Given the description of an element on the screen output the (x, y) to click on. 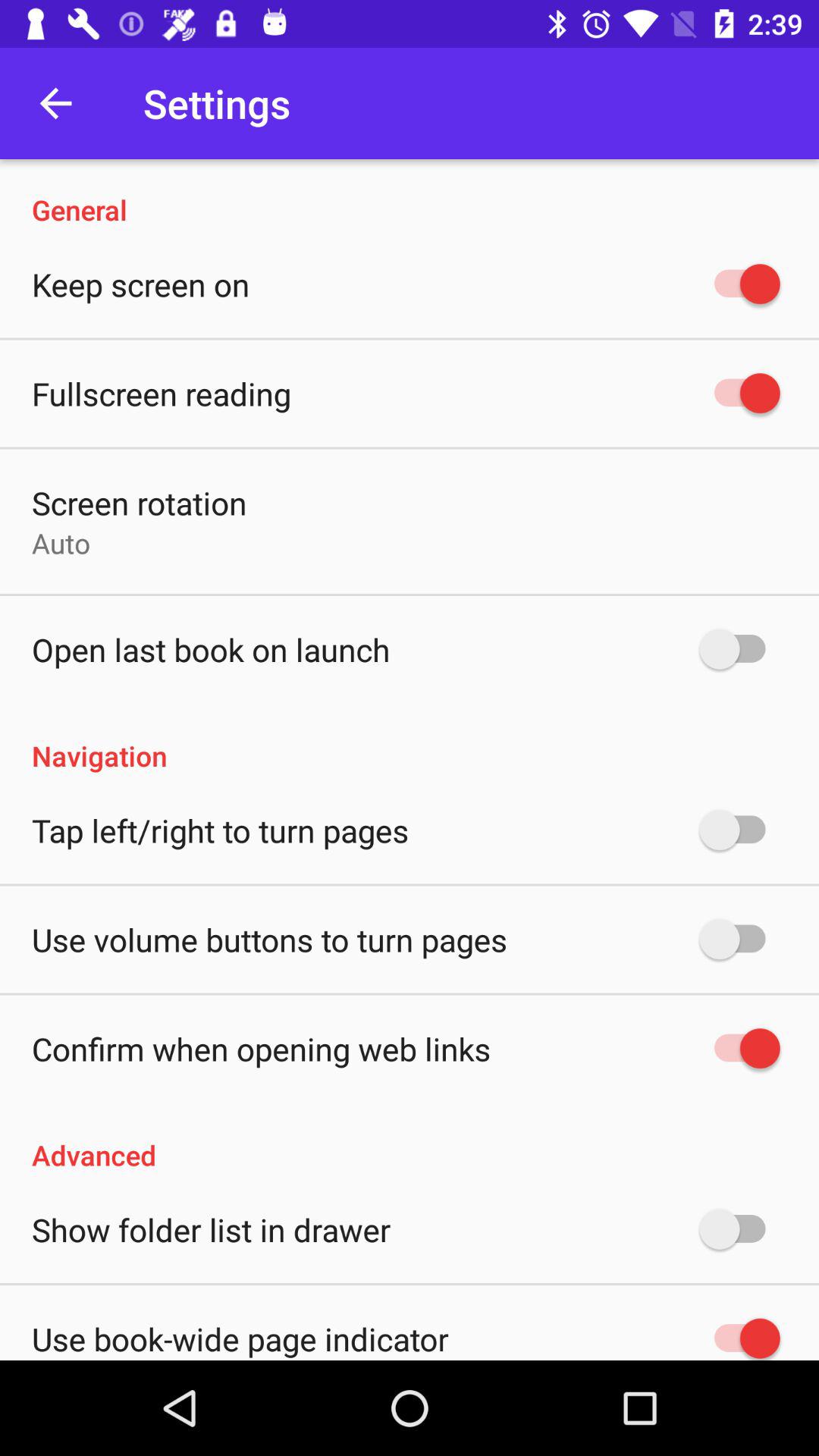
jump to the fullscreen reading icon (161, 393)
